Given the description of an element on the screen output the (x, y) to click on. 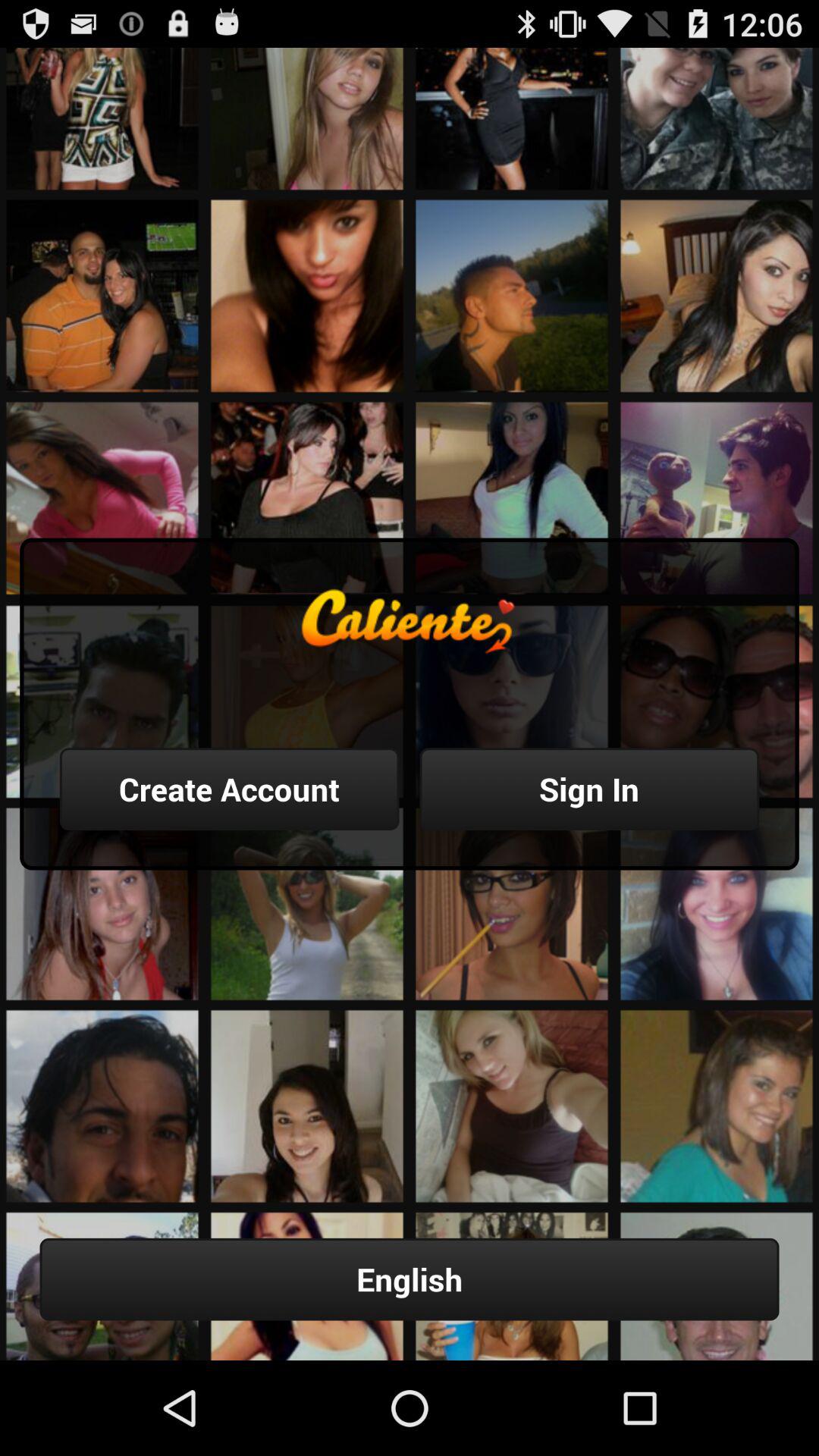
click the item below the create account item (409, 1279)
